Given the description of an element on the screen output the (x, y) to click on. 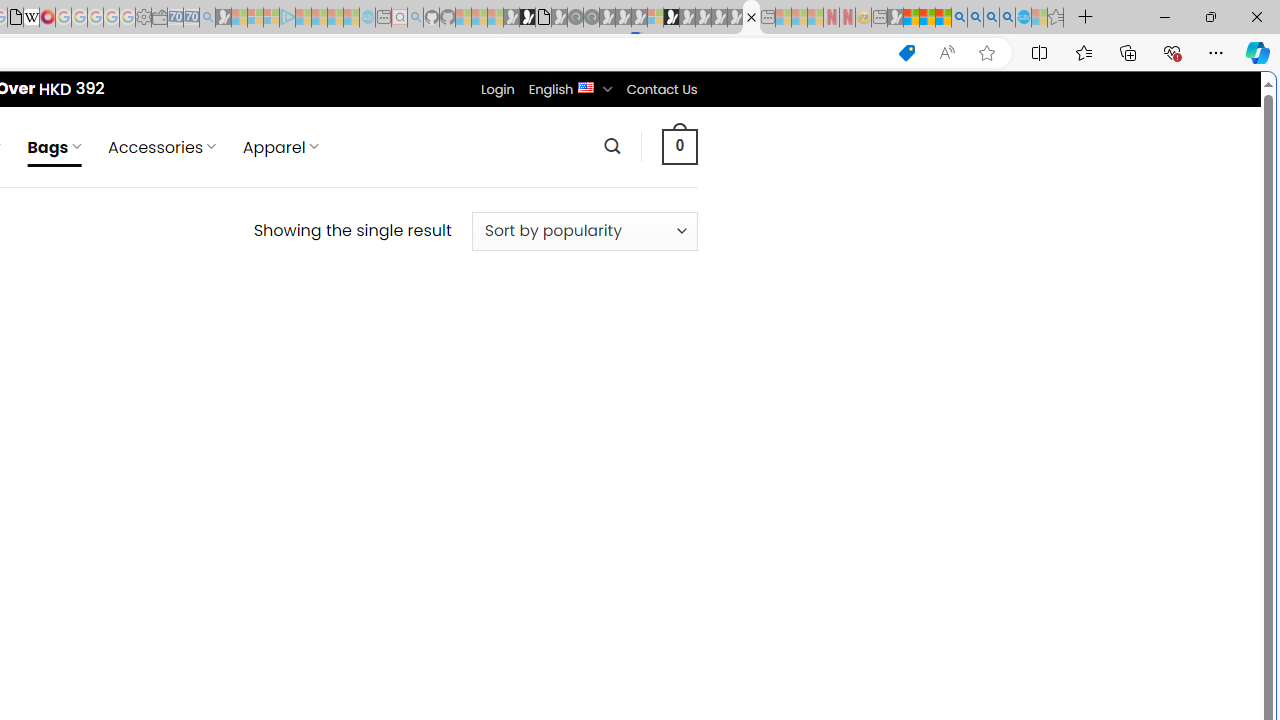
github - Search - Sleeping (415, 17)
  0   (679, 146)
MSN - Sleeping (895, 17)
